Given the description of an element on the screen output the (x, y) to click on. 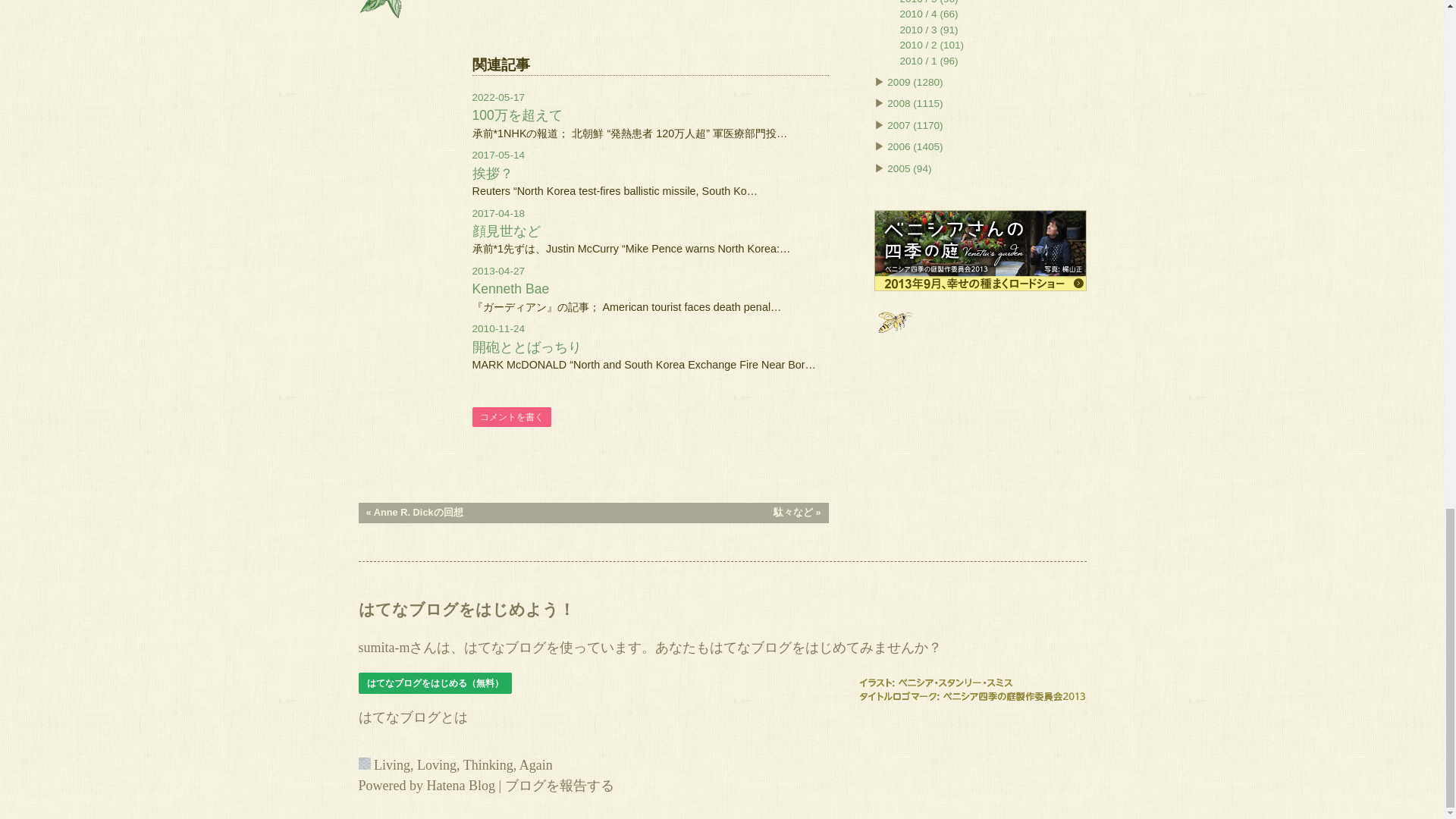
2013-04-27 (497, 270)
Kenneth Bae (509, 288)
2022-05-17T01:20:24Z (497, 97)
2010-11-24 (497, 328)
2017-05-14 (497, 154)
2017-05-14T00:27:12Z (497, 154)
2017-04-18 (497, 213)
2010-11-24T05:46:37Z (497, 328)
2013-04-27T14:34:13Z (497, 270)
2022-05-17 (497, 97)
